Given the description of an element on the screen output the (x, y) to click on. 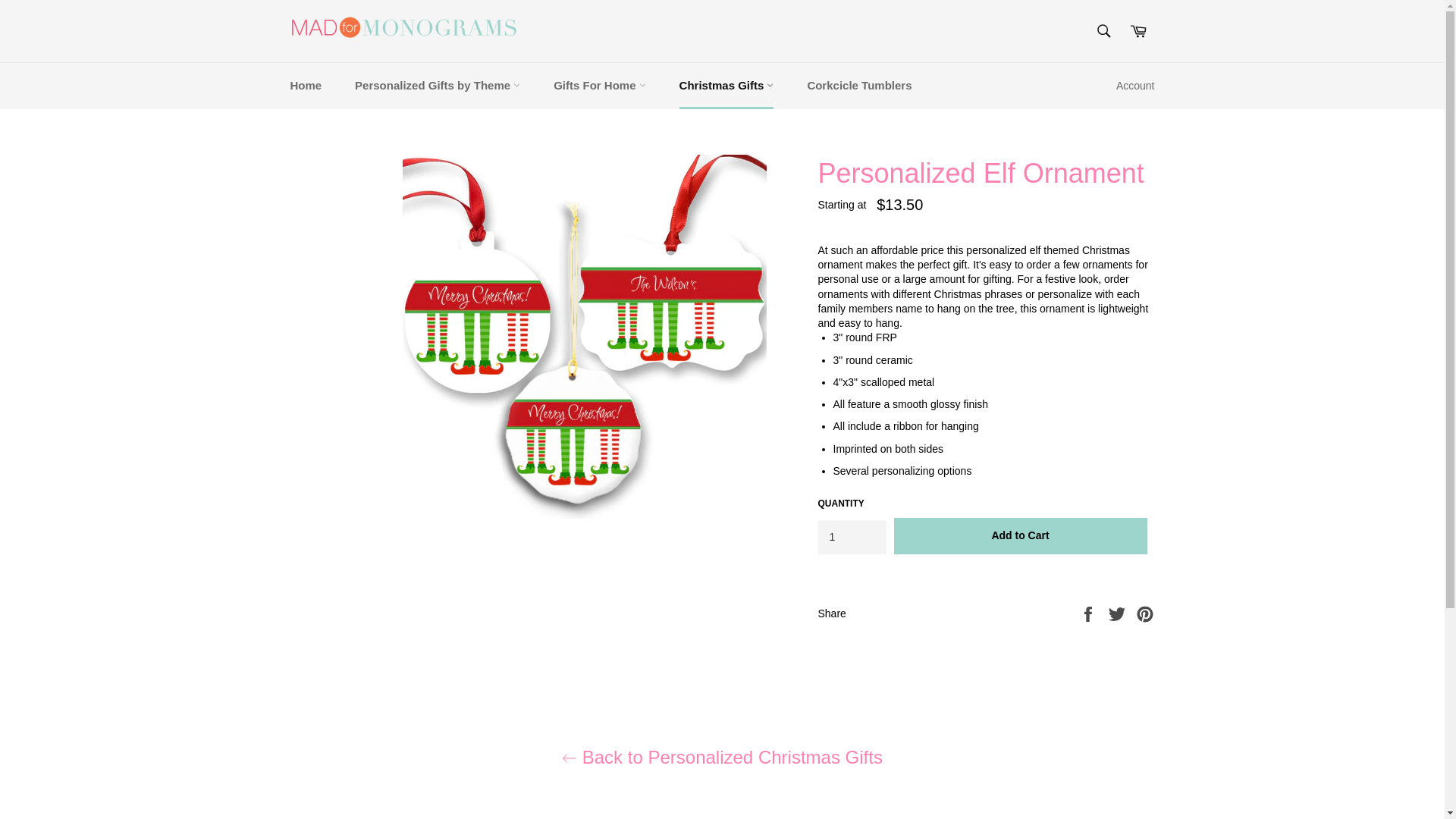
1 (850, 537)
Share on Facebook (1089, 612)
Tweet on Twitter (1118, 612)
Pin on Pinterest (1144, 612)
